Given the description of an element on the screen output the (x, y) to click on. 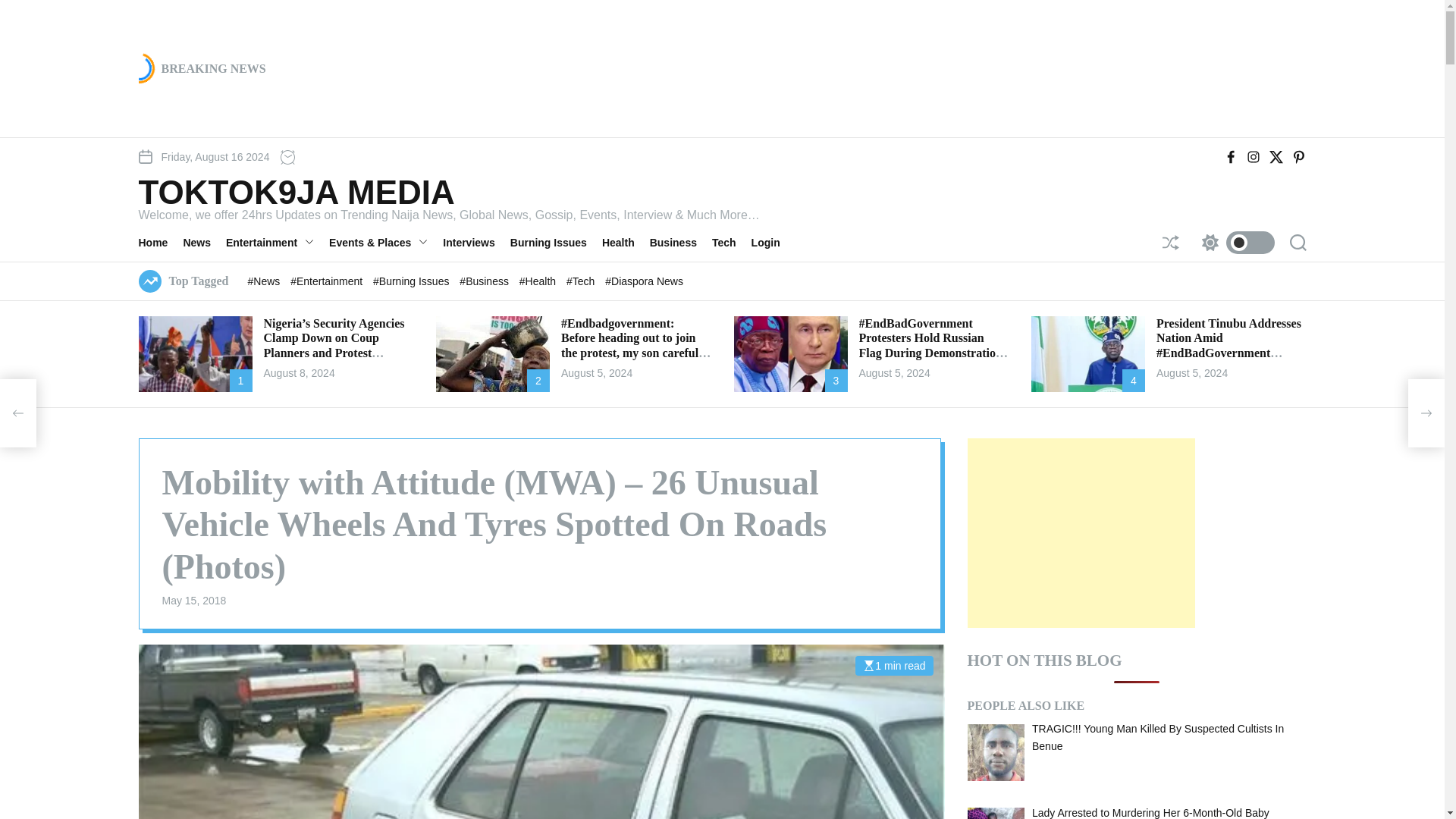
Burning Issues (556, 242)
Home (160, 242)
Health (625, 242)
Advertisement (1081, 533)
Login (772, 242)
Facebook (1230, 156)
News (204, 242)
Entertainment (277, 242)
TOKTOK9JA MEDIA (448, 192)
Business (680, 242)
